Given the description of an element on the screen output the (x, y) to click on. 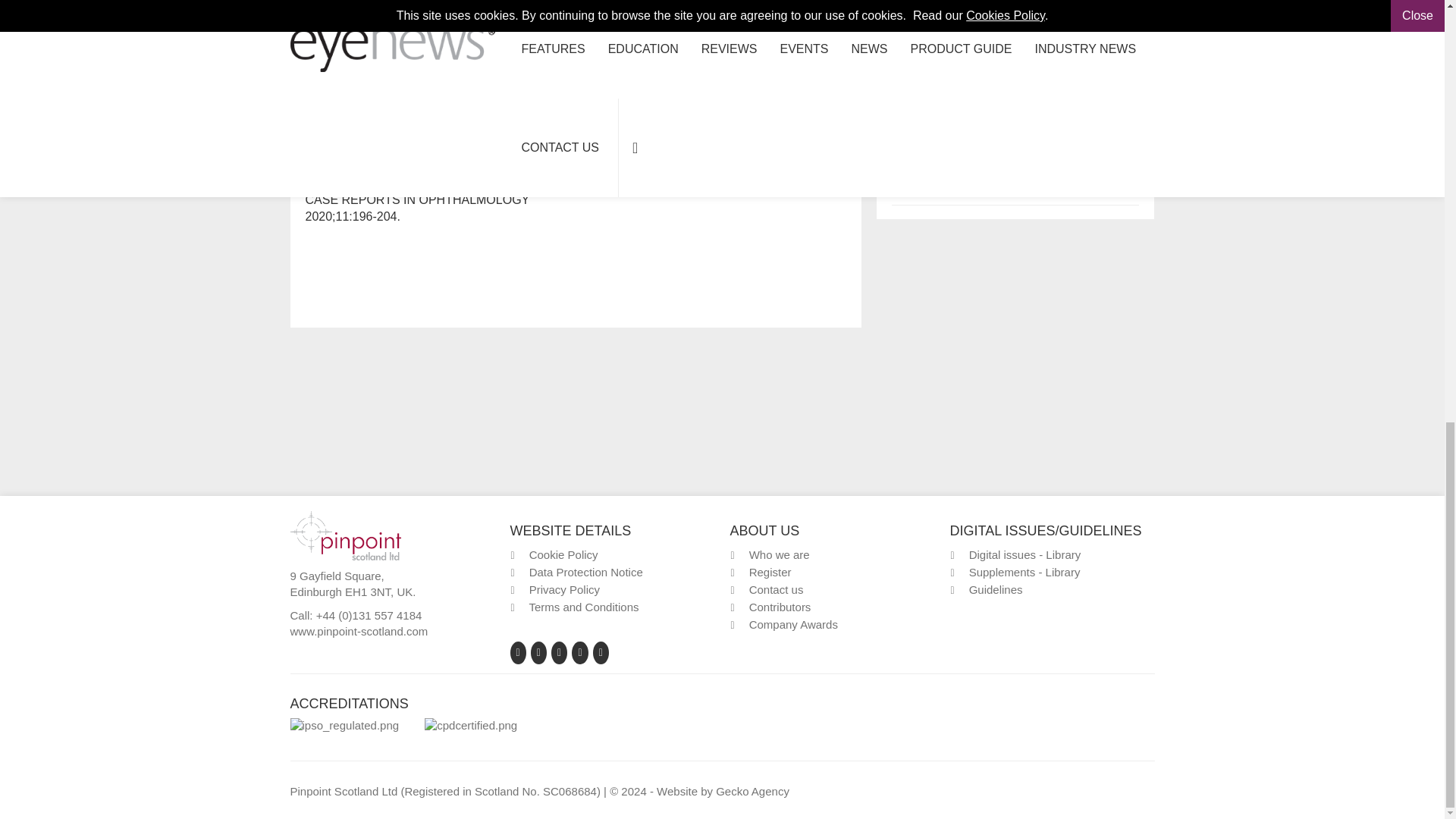
Website by Gecko Agency (752, 790)
